Given the description of an element on the screen output the (x, y) to click on. 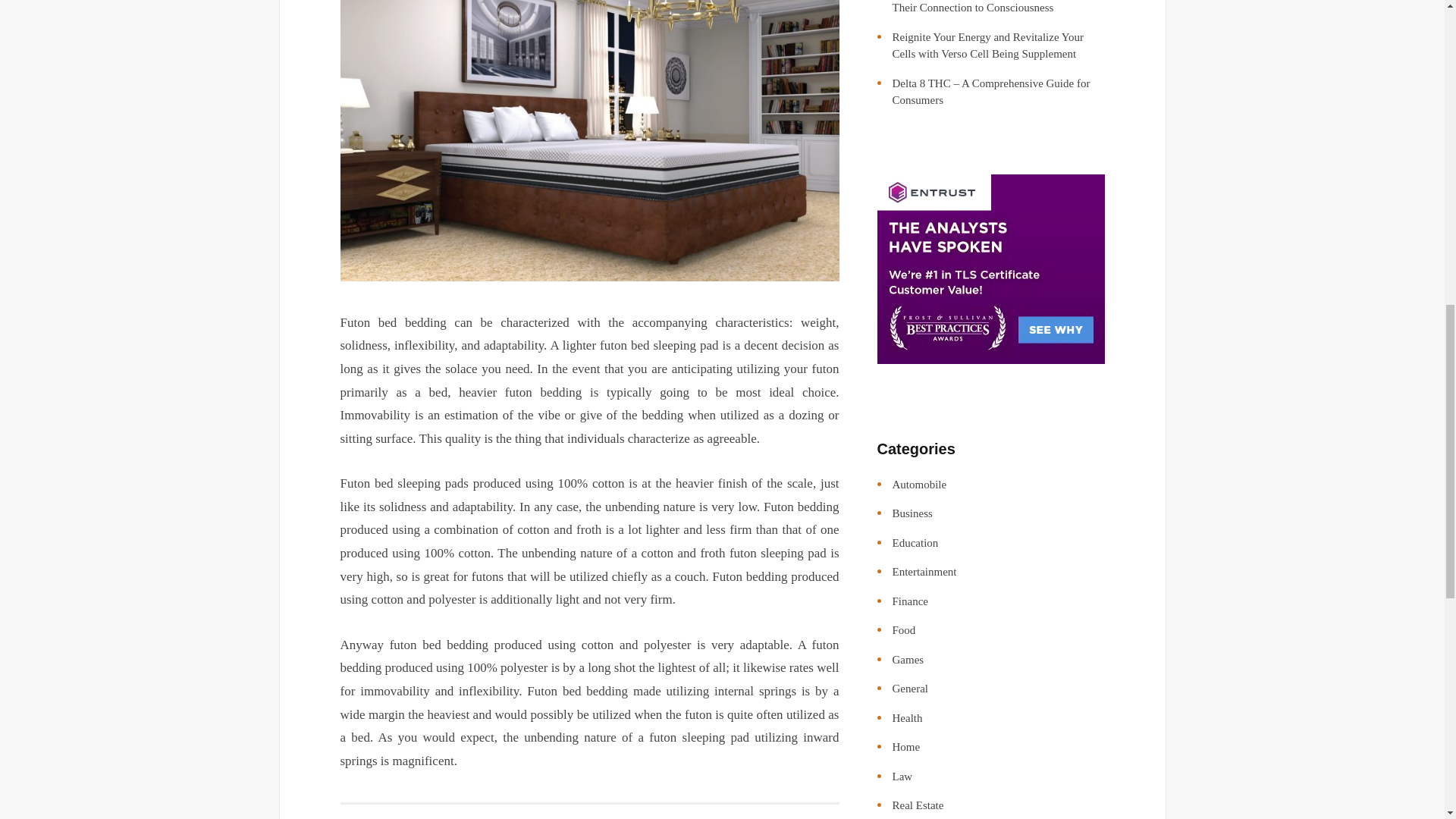
Games (907, 659)
Health (906, 717)
Education (914, 542)
Automobile (918, 484)
Entertainment (923, 571)
Food (903, 630)
General (909, 688)
Law (901, 776)
Business (911, 512)
Finance (909, 601)
Real Estate (917, 805)
Home (905, 746)
